Given the description of an element on the screen output the (x, y) to click on. 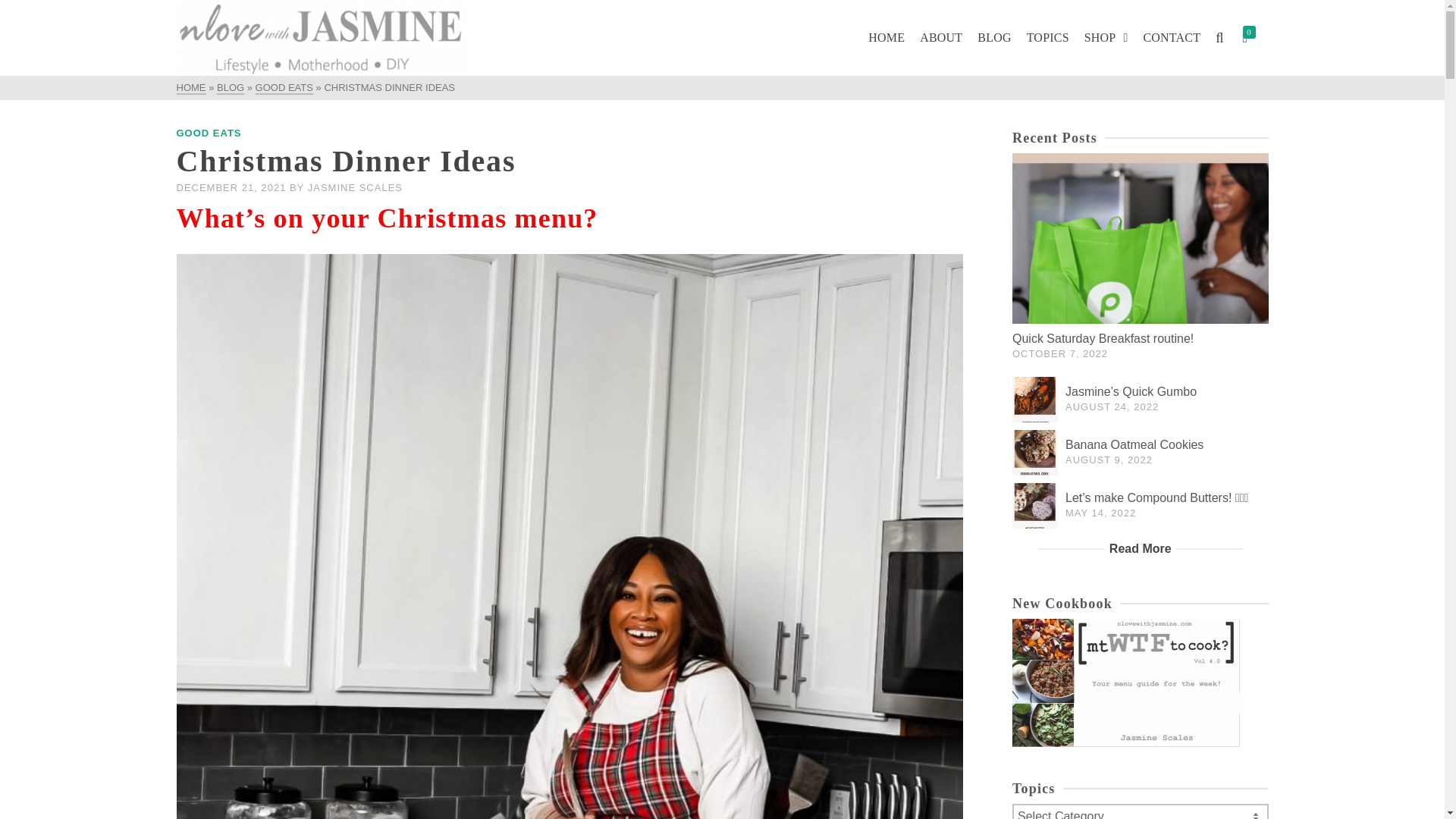
TOPICS (1048, 37)
0 (1251, 38)
Quick Saturday Breakfast routine! (1102, 338)
BLOG (993, 37)
ABOUT (940, 37)
Quick Saturday Breakfast routine! (1139, 238)
CONTACT (1171, 37)
GOOD EATS (208, 132)
GOOD EATS (284, 88)
HOME (886, 37)
BLOG (230, 88)
Banana Oatmeal Cookies (1134, 444)
SHOP (1106, 37)
Banana Oatmeal Cookies (1034, 452)
HOME (190, 88)
